Given the description of an element on the screen output the (x, y) to click on. 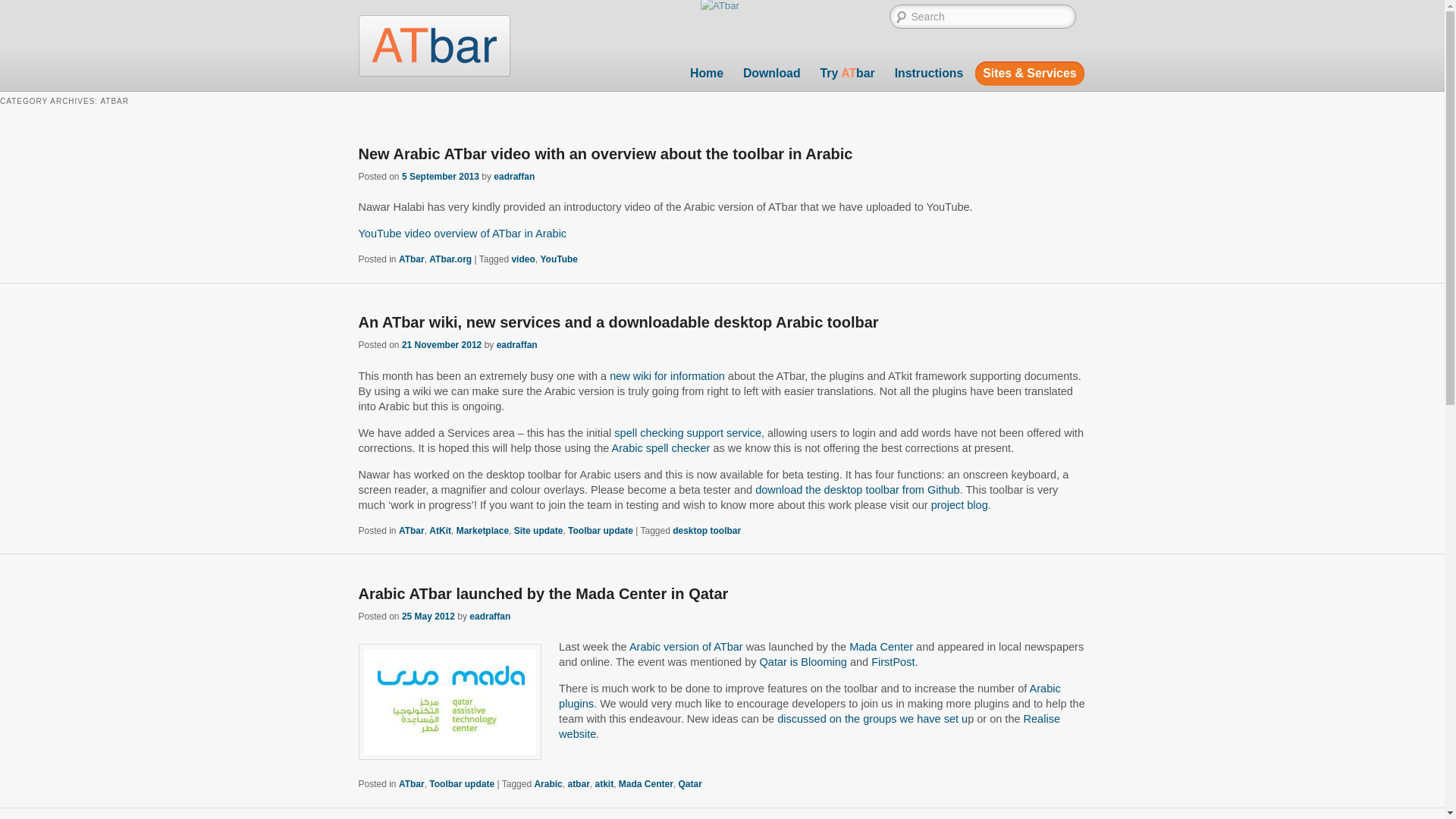
ATbar (411, 258)
spell checking support service (687, 432)
View all posts by eadraffan (513, 176)
21 November 2012 (441, 344)
ATbar.org (450, 258)
8:22 pm (427, 615)
project blog (959, 504)
9:59 pm (441, 344)
Arabic version of ATbar (685, 646)
Toolbar update (600, 530)
